Given the description of an element on the screen output the (x, y) to click on. 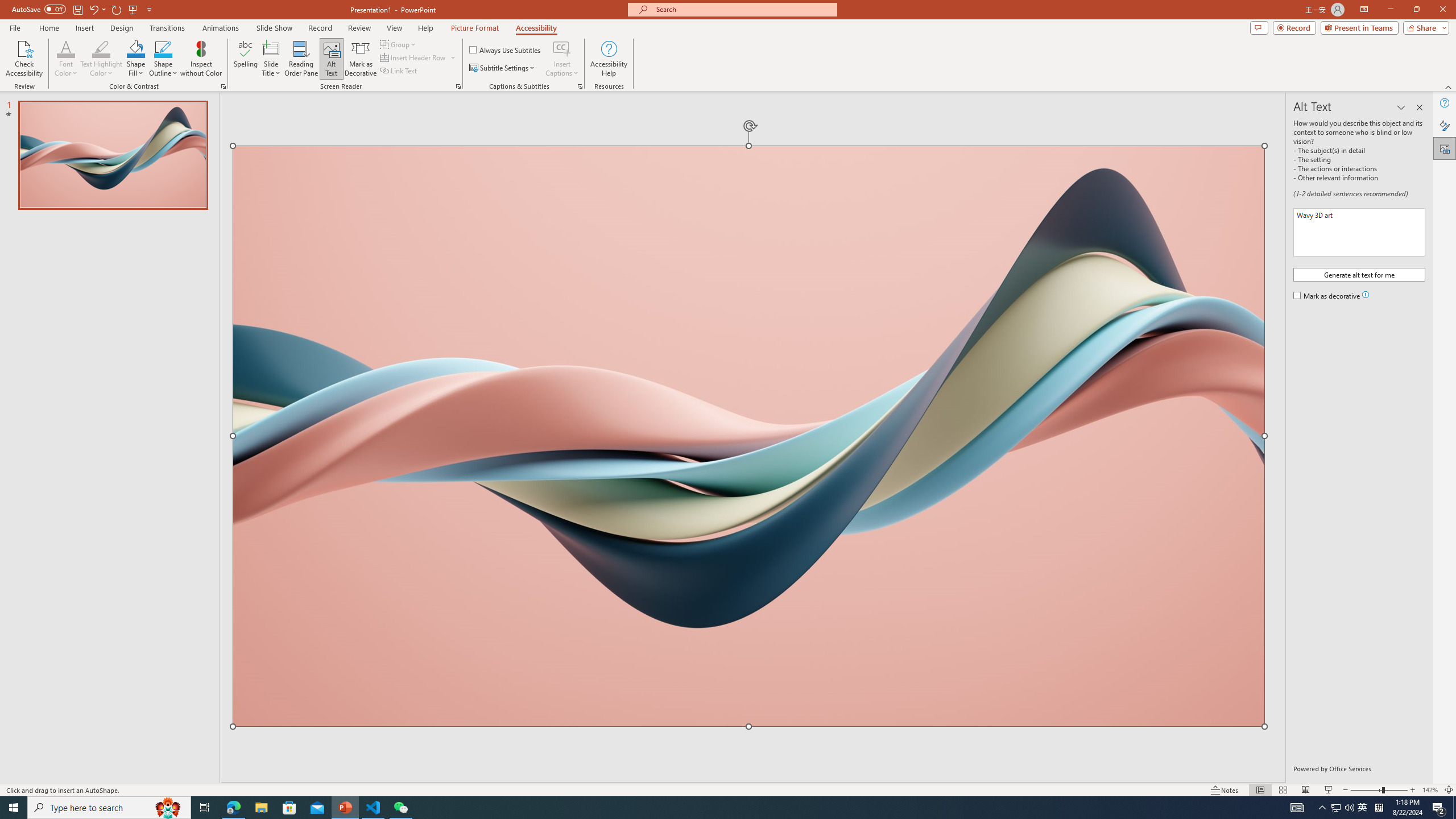
Generate alt text for me (1358, 274)
